Given the description of an element on the screen output the (x, y) to click on. 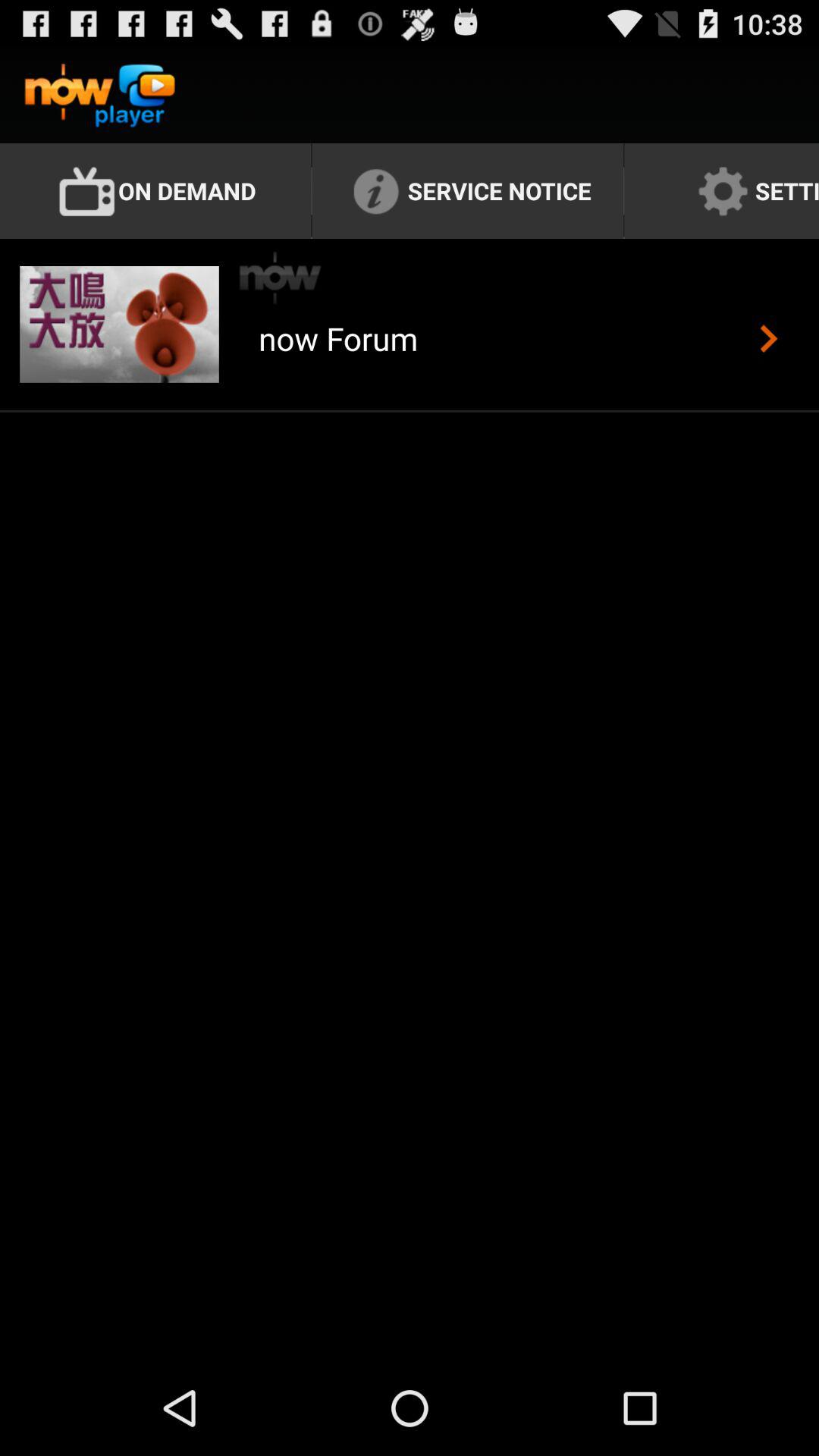
open app below the on demand (280, 277)
